Given the description of an element on the screen output the (x, y) to click on. 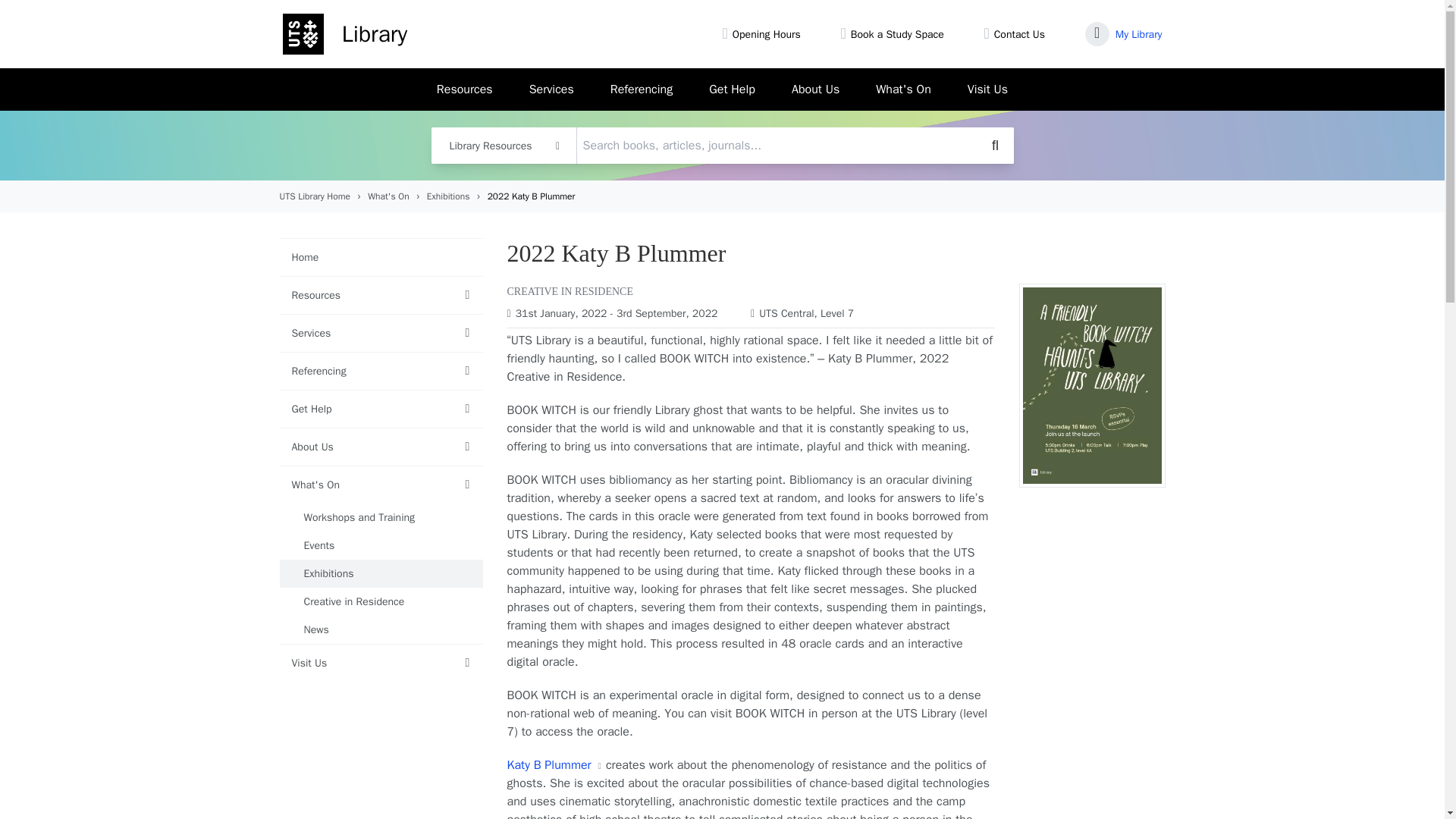
Home (344, 33)
Opening Hours (766, 33)
Search (994, 145)
My Library (1138, 33)
Book a Study Space (896, 33)
Contact Us (1019, 33)
Enter the terms you wish to search for. (721, 145)
Library (344, 33)
